Given the description of an element on the screen output the (x, y) to click on. 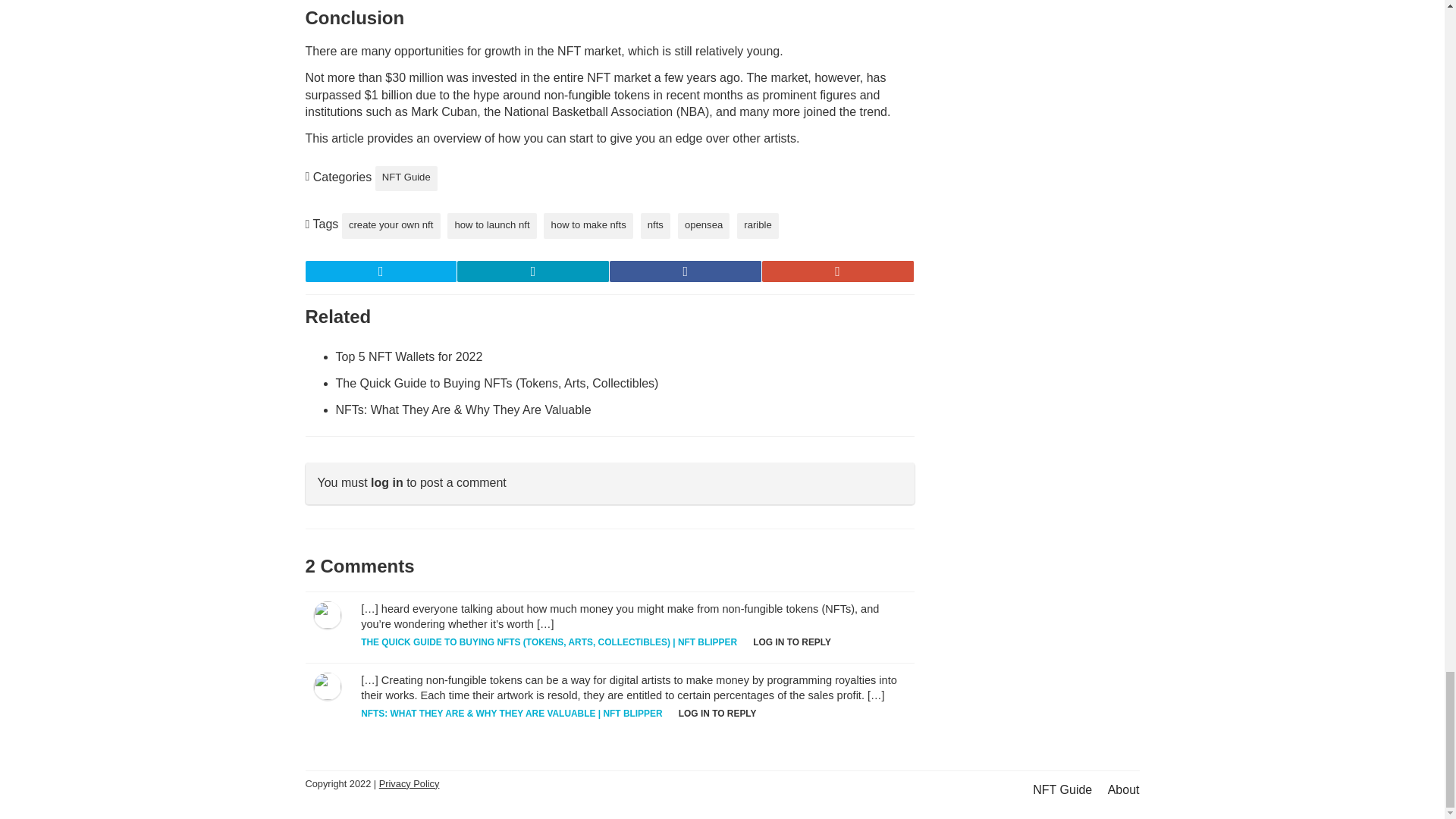
how to make nfts (587, 225)
nfts (654, 225)
create your own nft (391, 225)
how to launch nft (490, 225)
nfts (654, 225)
rarible (757, 225)
rarible (757, 225)
how to make nfts (587, 225)
NFT Guide (406, 178)
how to launch nft (490, 225)
LOG IN TO REPLY (791, 642)
LOG IN TO REPLY (717, 713)
opensea (704, 225)
create your own nft (391, 225)
log in (387, 481)
